Given the description of an element on the screen output the (x, y) to click on. 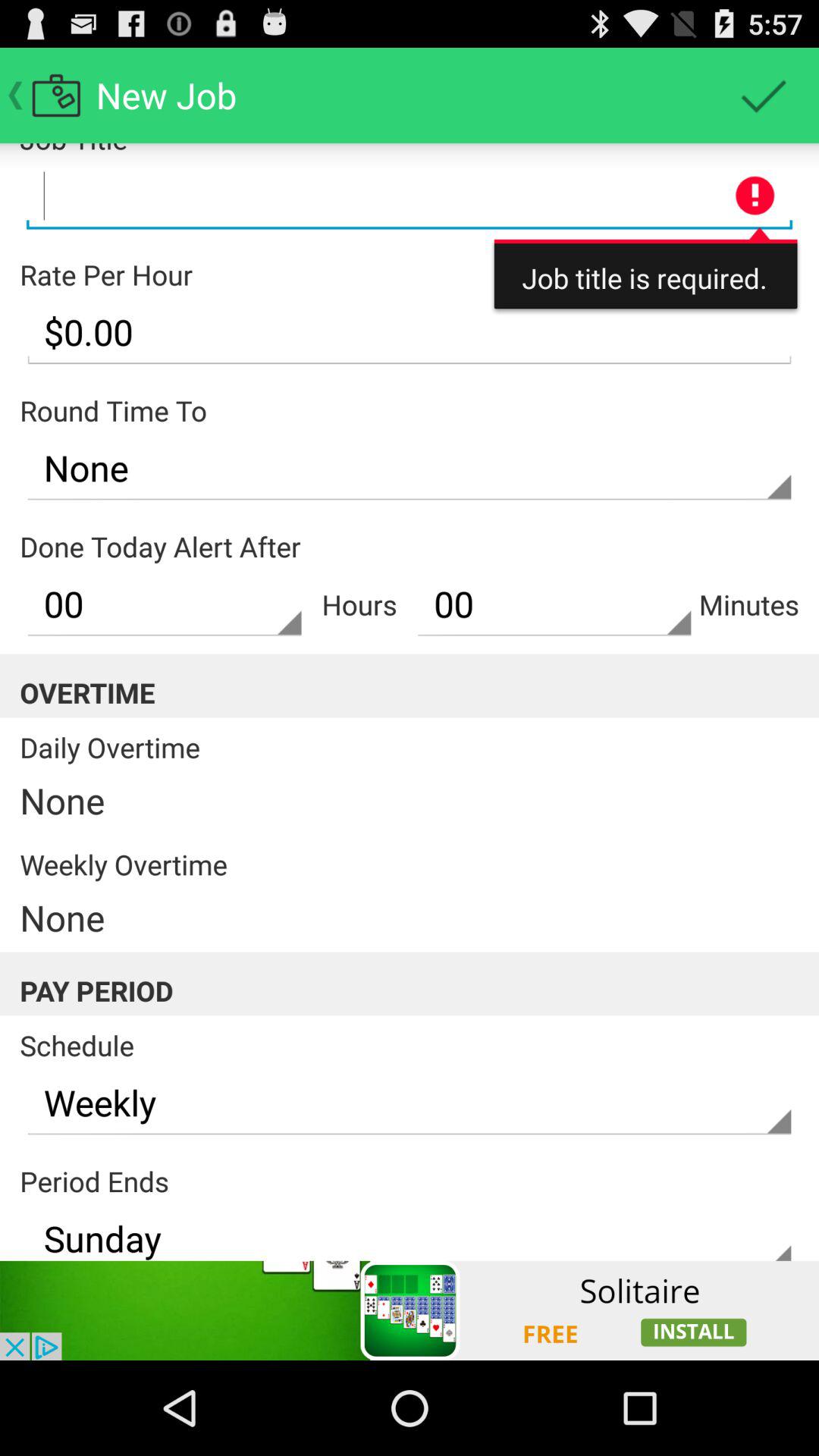
advertisement (409, 196)
